Given the description of an element on the screen output the (x, y) to click on. 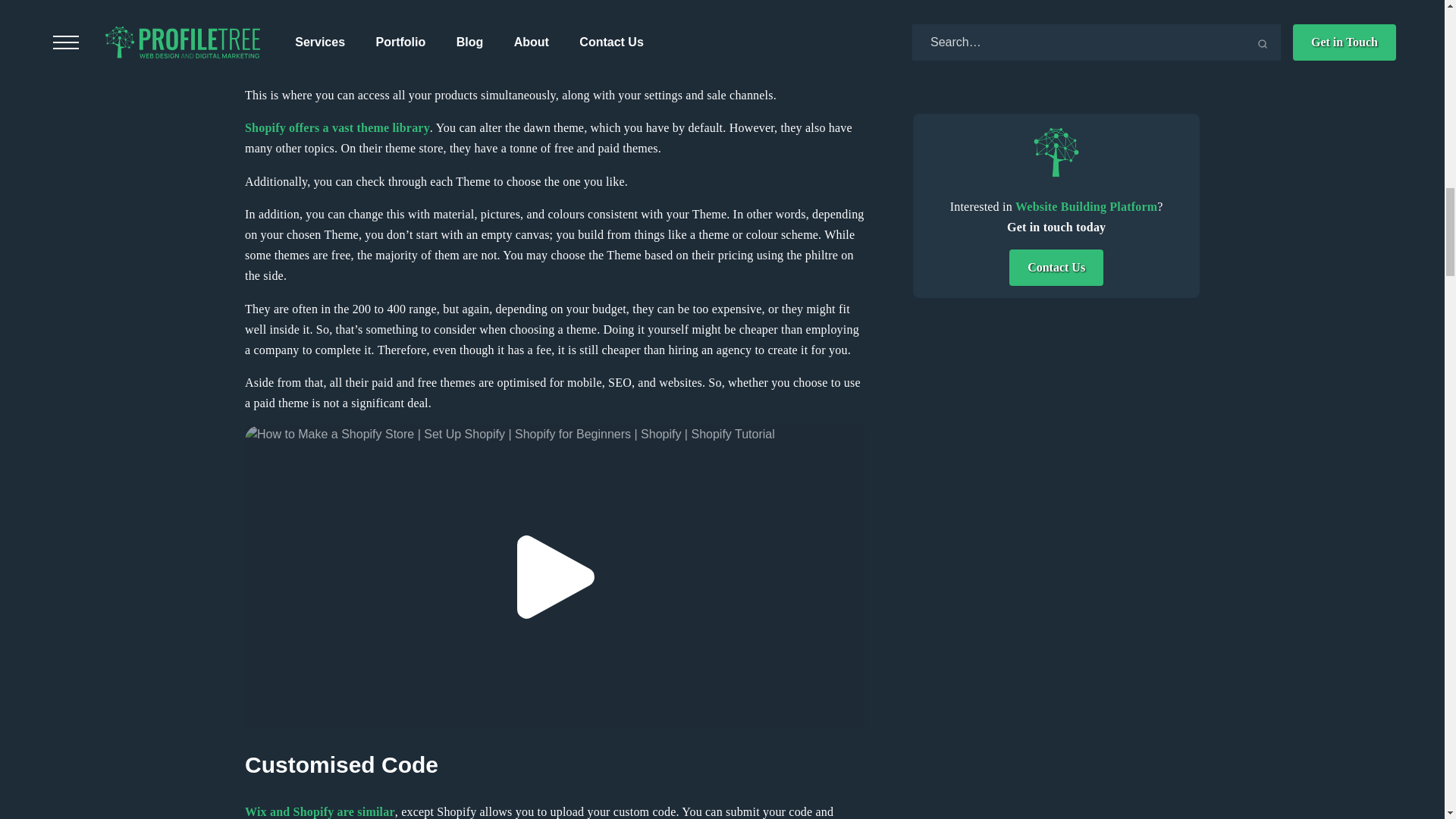
Wix and Shopify are similar (319, 811)
Shopify offers a vast theme library (336, 127)
